Given the description of an element on the screen output the (x, y) to click on. 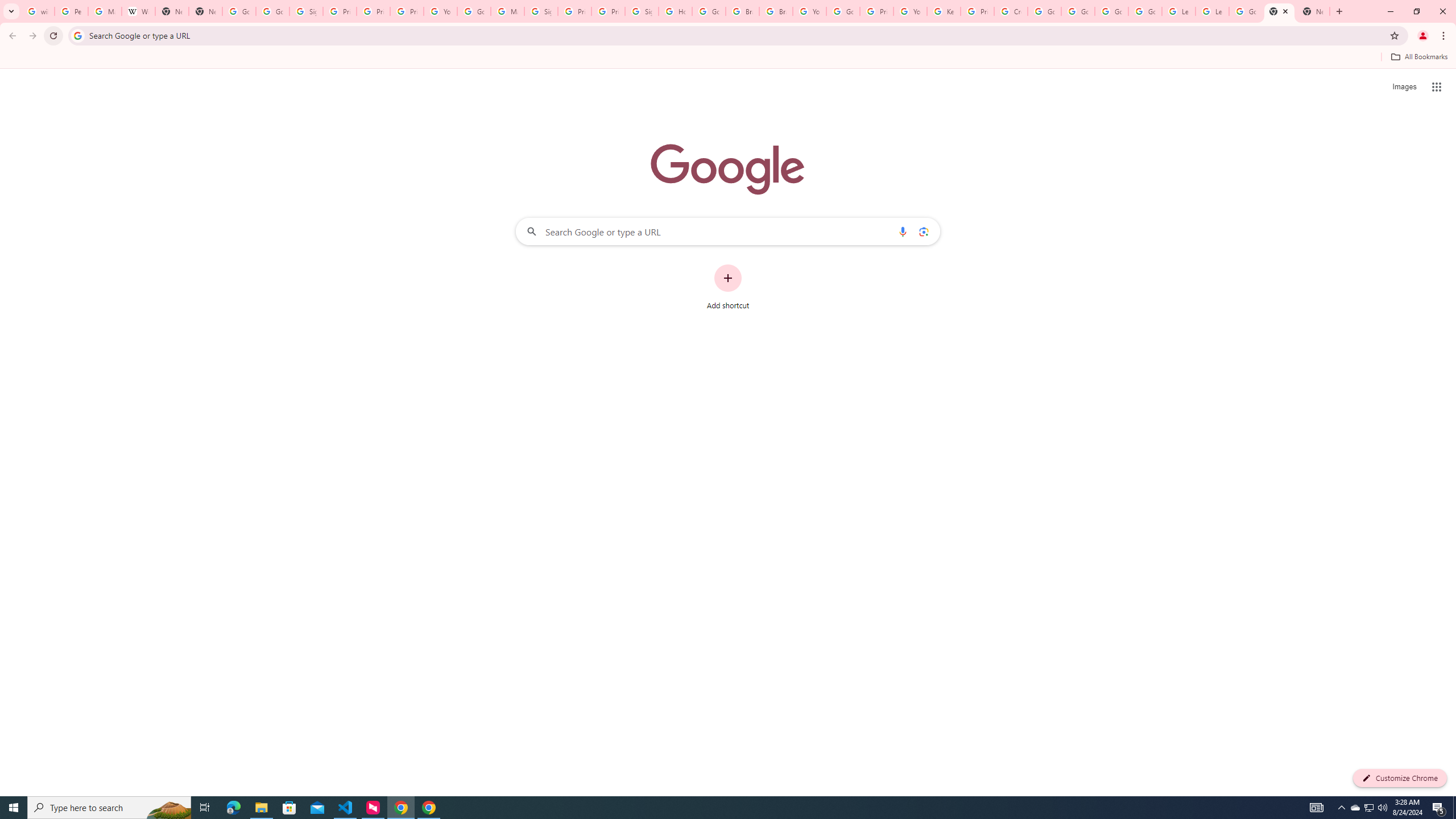
Google Drive: Sign-in (272, 11)
Google Account Help (842, 11)
